Given the description of an element on the screen output the (x, y) to click on. 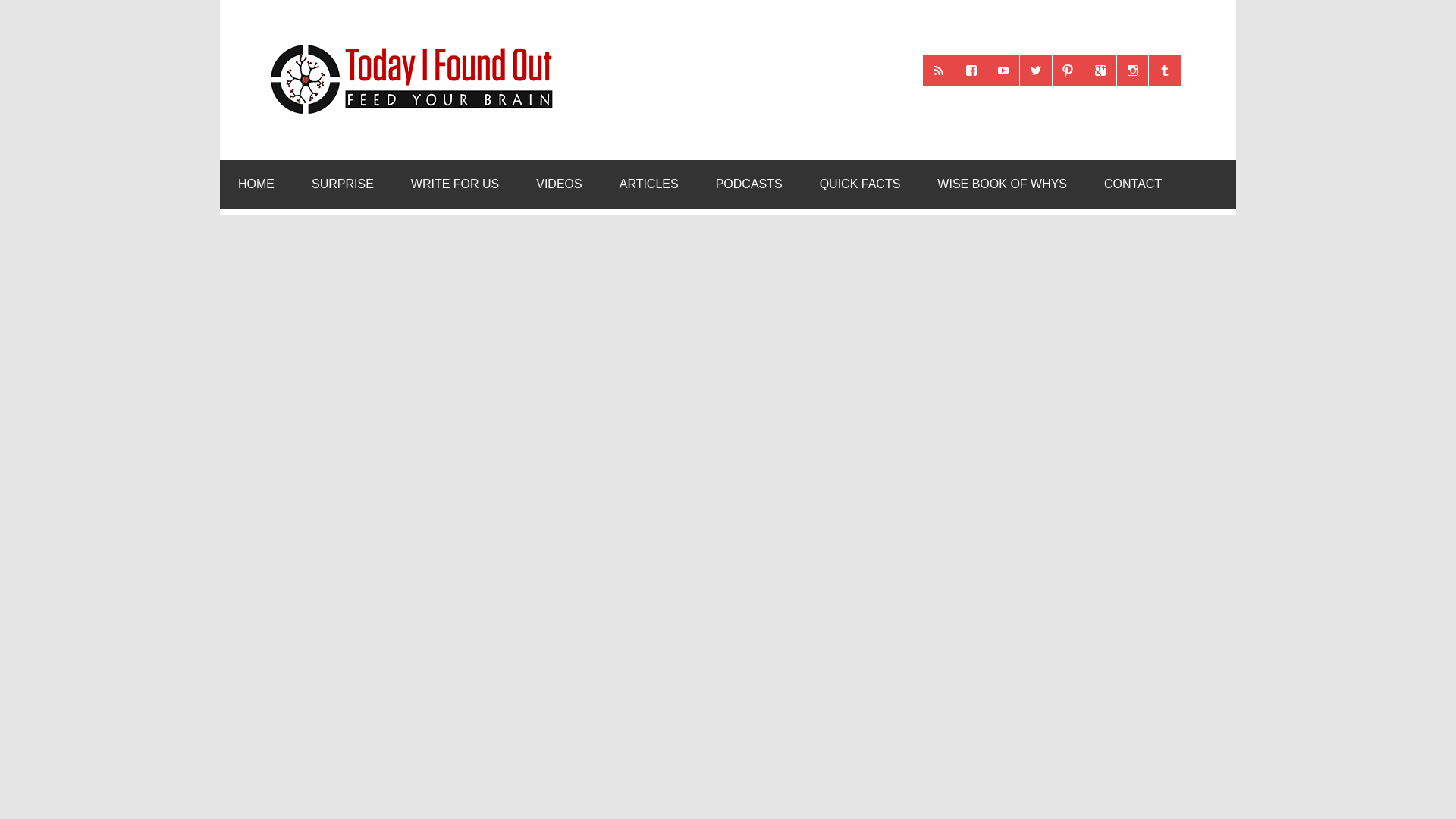
SURPRISE (342, 183)
ARTICLES (649, 183)
CONTACT (1132, 183)
HOME (255, 183)
VIDEOS (558, 183)
PODCASTS (748, 183)
QUICK FACTS (860, 183)
Interesting Facts (860, 183)
Today I Found Out (405, 42)
WRITE FOR US (454, 183)
